Given the description of an element on the screen output the (x, y) to click on. 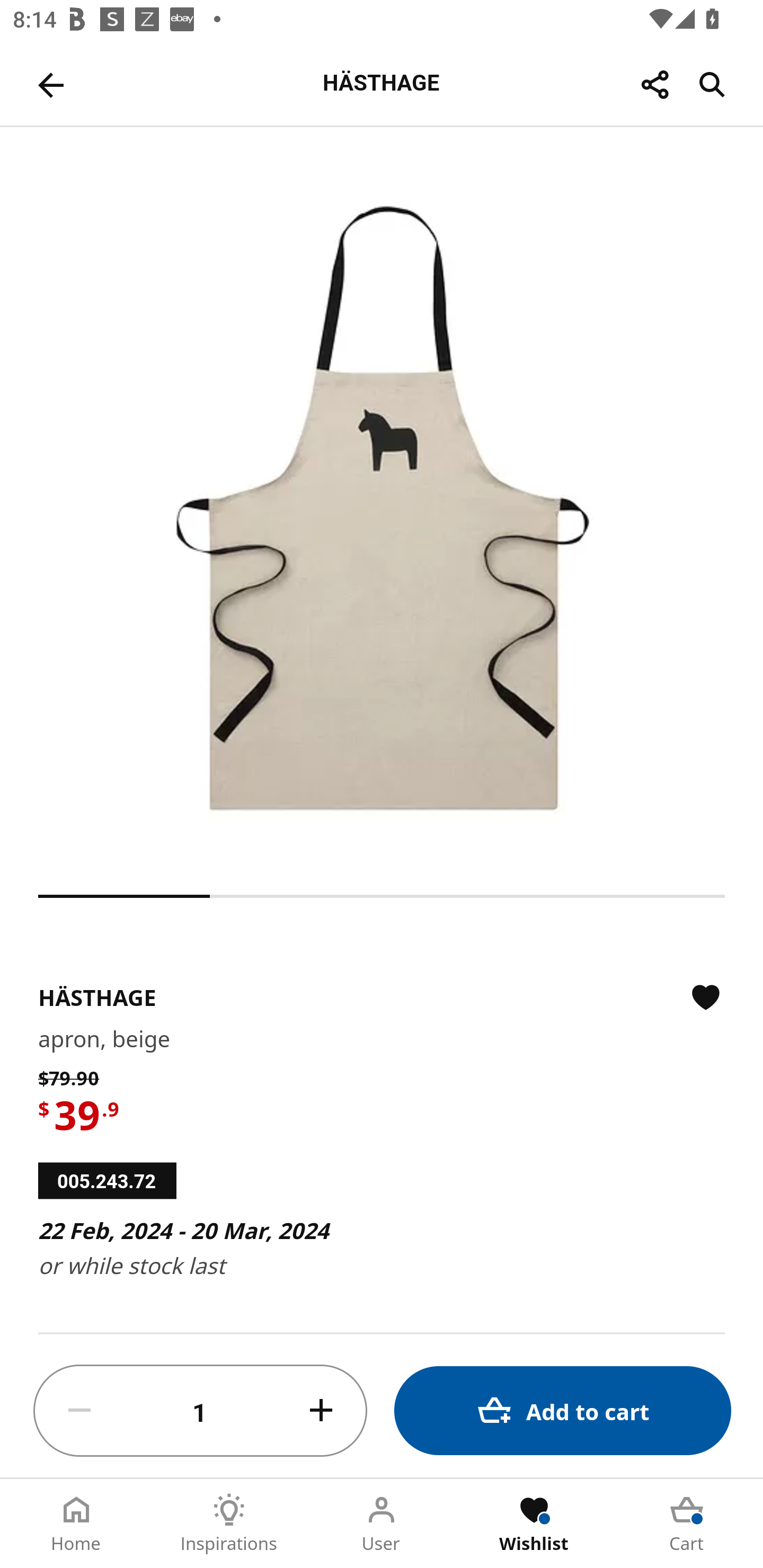
Add to cart (562, 1410)
1 (200, 1411)
Home
Tab 1 of 5 (76, 1522)
Inspirations
Tab 2 of 5 (228, 1522)
User
Tab 3 of 5 (381, 1522)
Wishlist
Tab 4 of 5 (533, 1522)
Cart
Tab 5 of 5 (686, 1522)
